Given the description of an element on the screen output the (x, y) to click on. 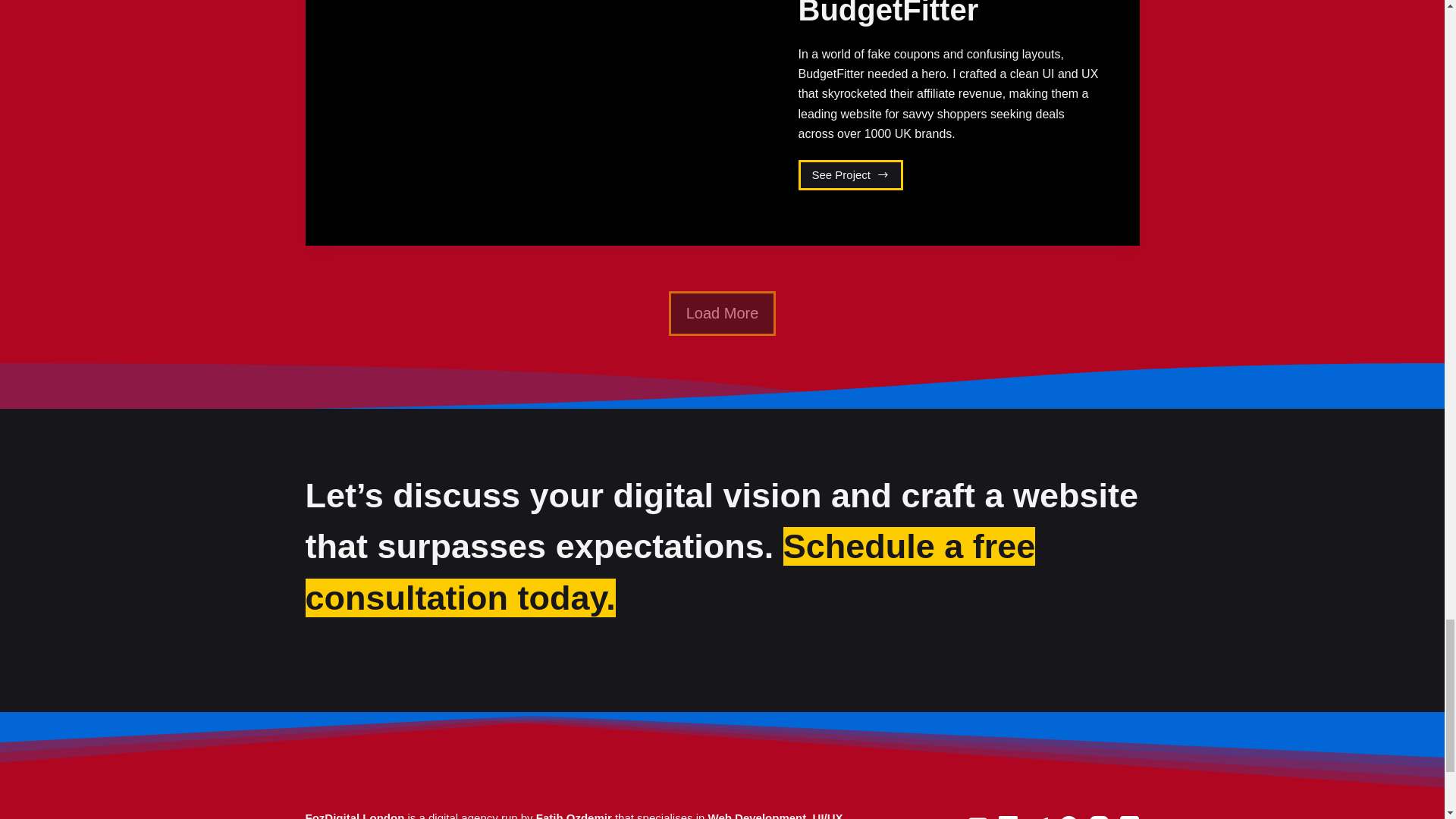
BudgetFitter (887, 13)
Load More (849, 174)
